Given the description of an element on the screen output the (x, y) to click on. 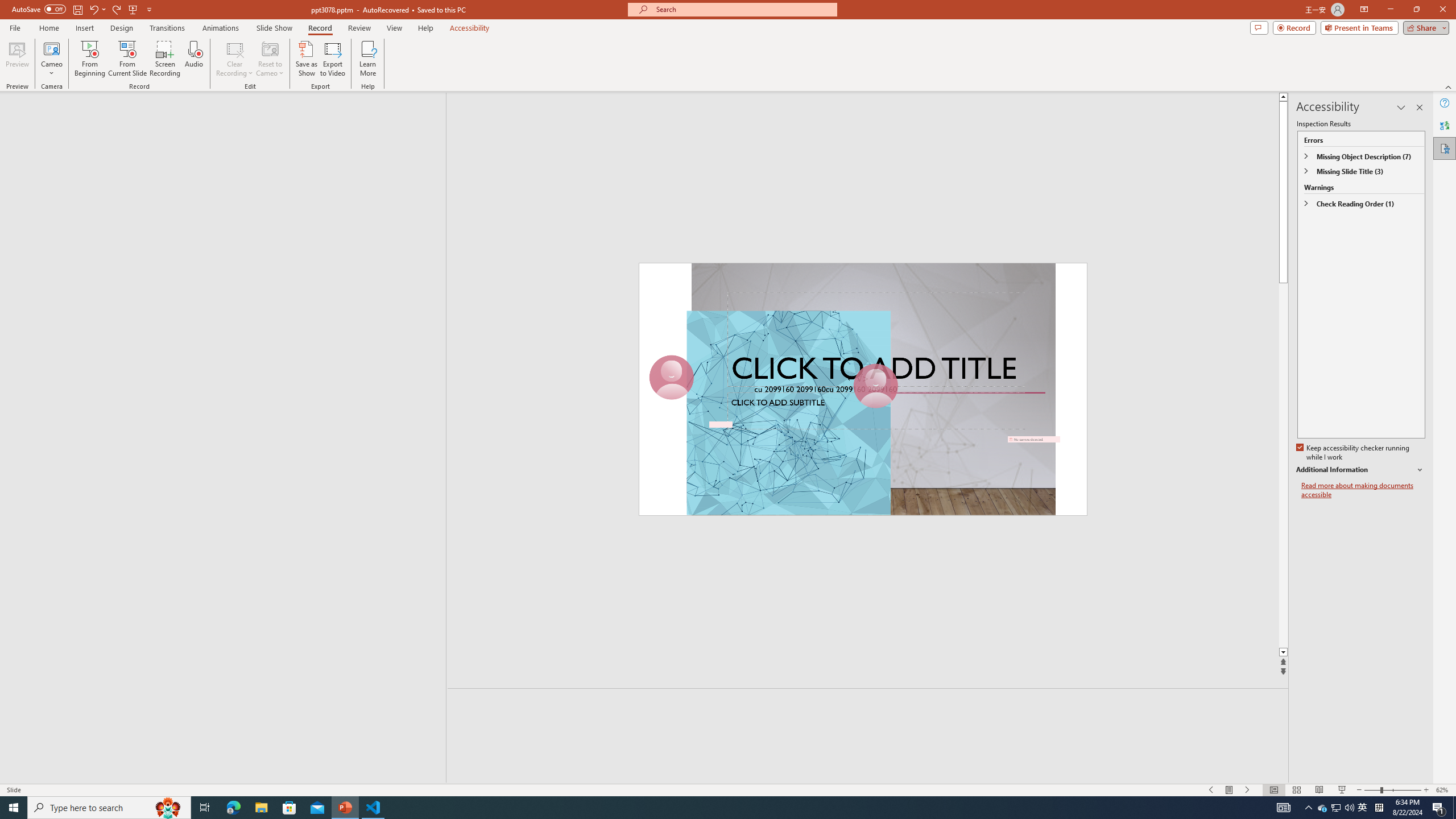
Slide Show Next On (1247, 790)
